Given the description of an element on the screen output the (x, y) to click on. 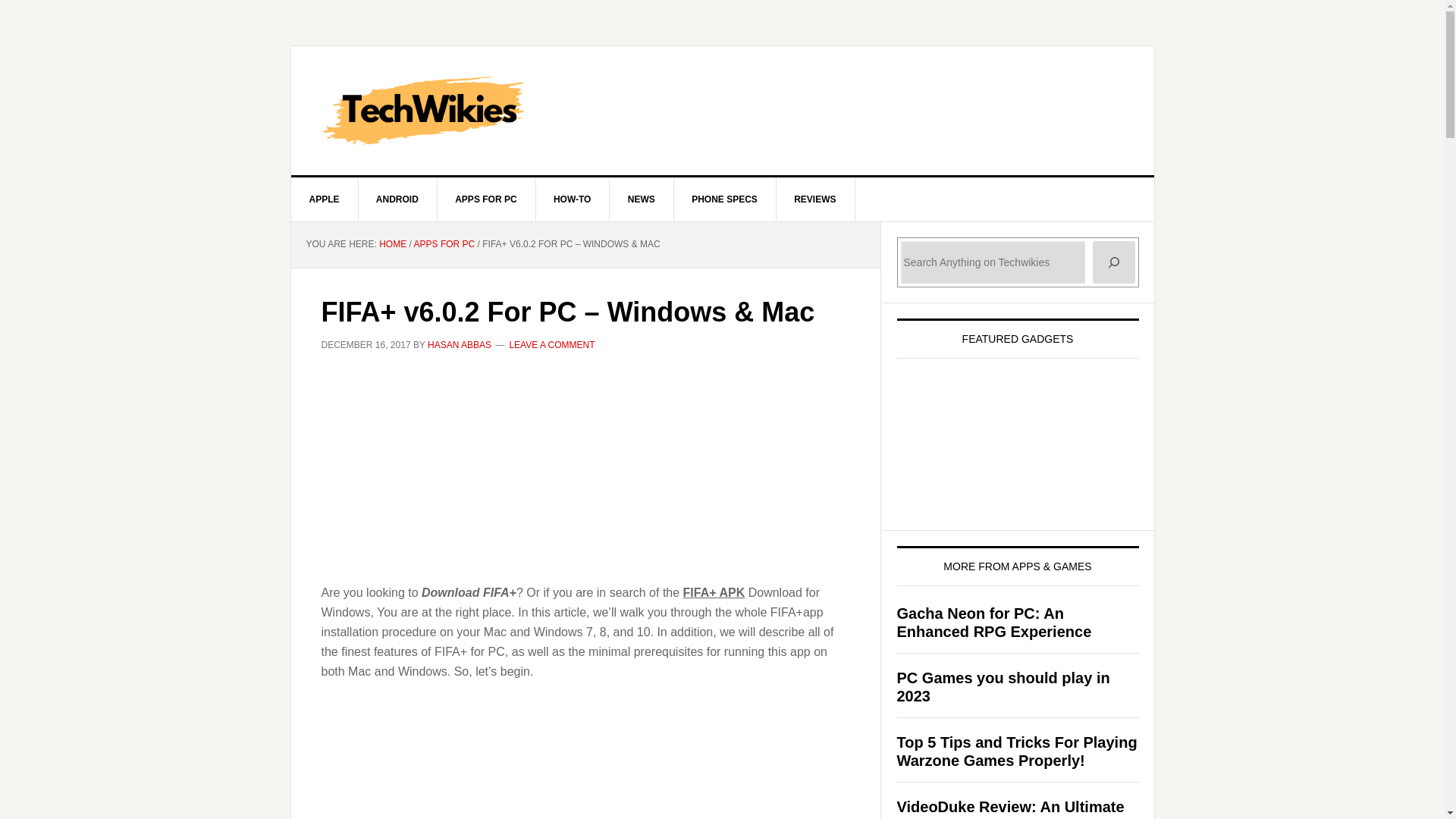
APPS FOR PC (485, 199)
REVIEWS (815, 199)
HOW-TO (572, 199)
Advertisement (585, 760)
PHONE SPECS (724, 199)
ANDROID (398, 199)
HASAN ABBAS (460, 344)
APPS FOR PC (444, 244)
Advertisement (585, 477)
LEAVE A COMMENT (551, 344)
HOME (392, 244)
NEWS (642, 199)
TECHWIKIES.COM (722, 110)
APPLE (324, 199)
